Given the description of an element on the screen output the (x, y) to click on. 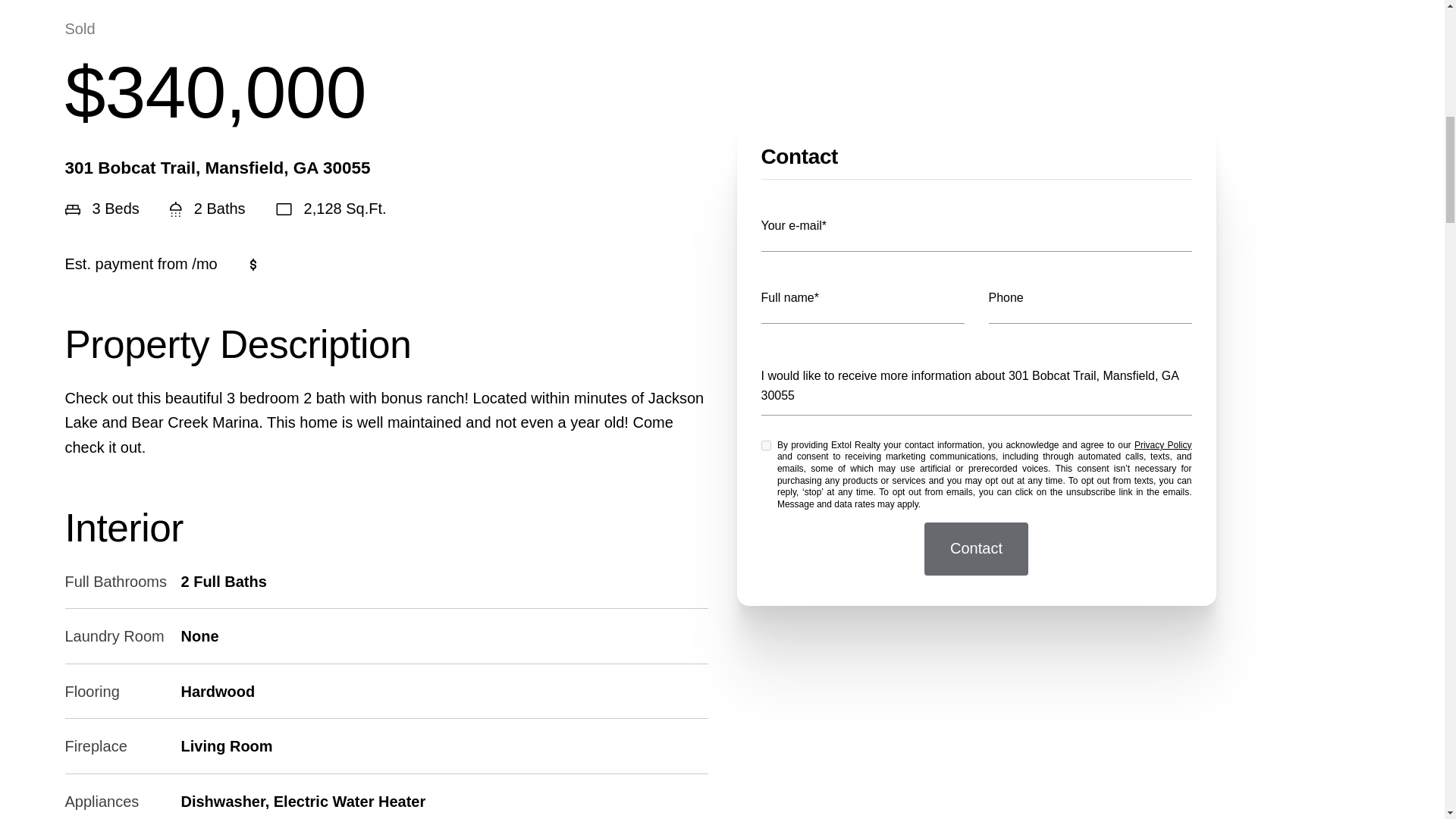
Privacy Policy (1163, 342)
Contact (975, 446)
on (766, 343)
Get Pre-Approved (330, 263)
